Given the description of an element on the screen output the (x, y) to click on. 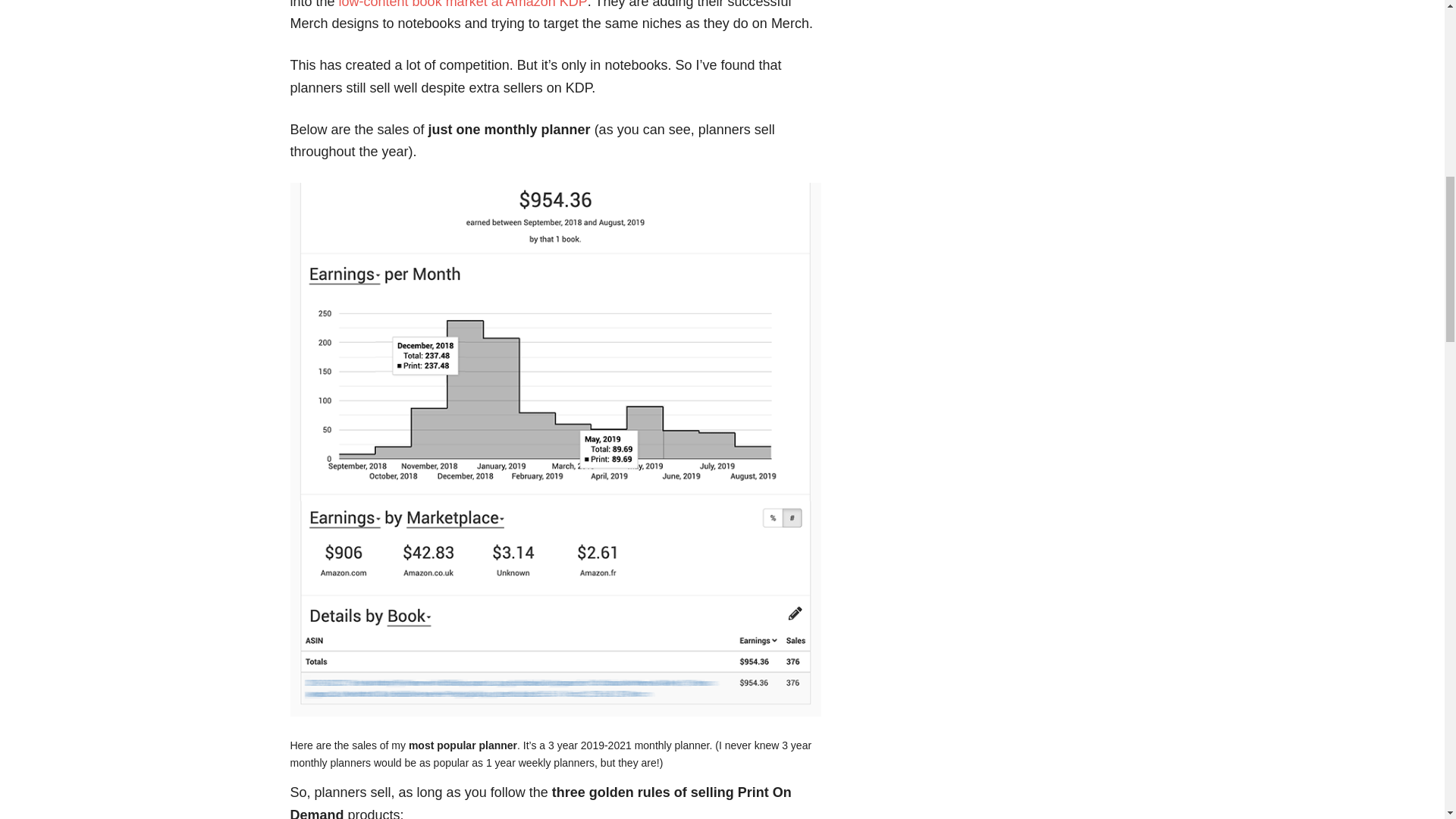
low-content book market at Amazon KDP (463, 4)
